Given the description of an element on the screen output the (x, y) to click on. 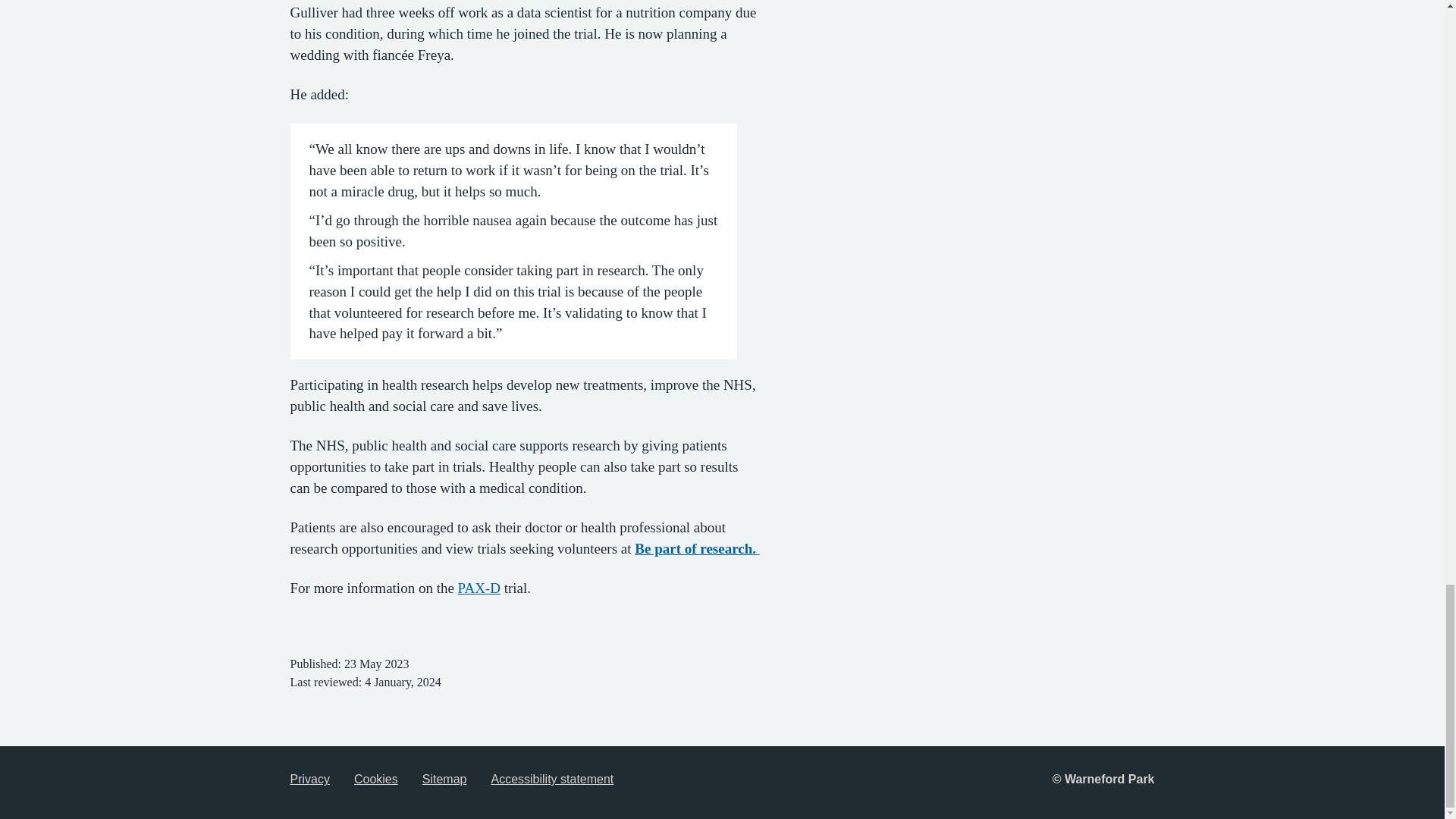
Privacy (309, 779)
Sitemap (444, 779)
Cookies (375, 779)
PAX-D (479, 587)
Accessibility statement (551, 779)
Be part of research.  (696, 548)
